Given the description of an element on the screen output the (x, y) to click on. 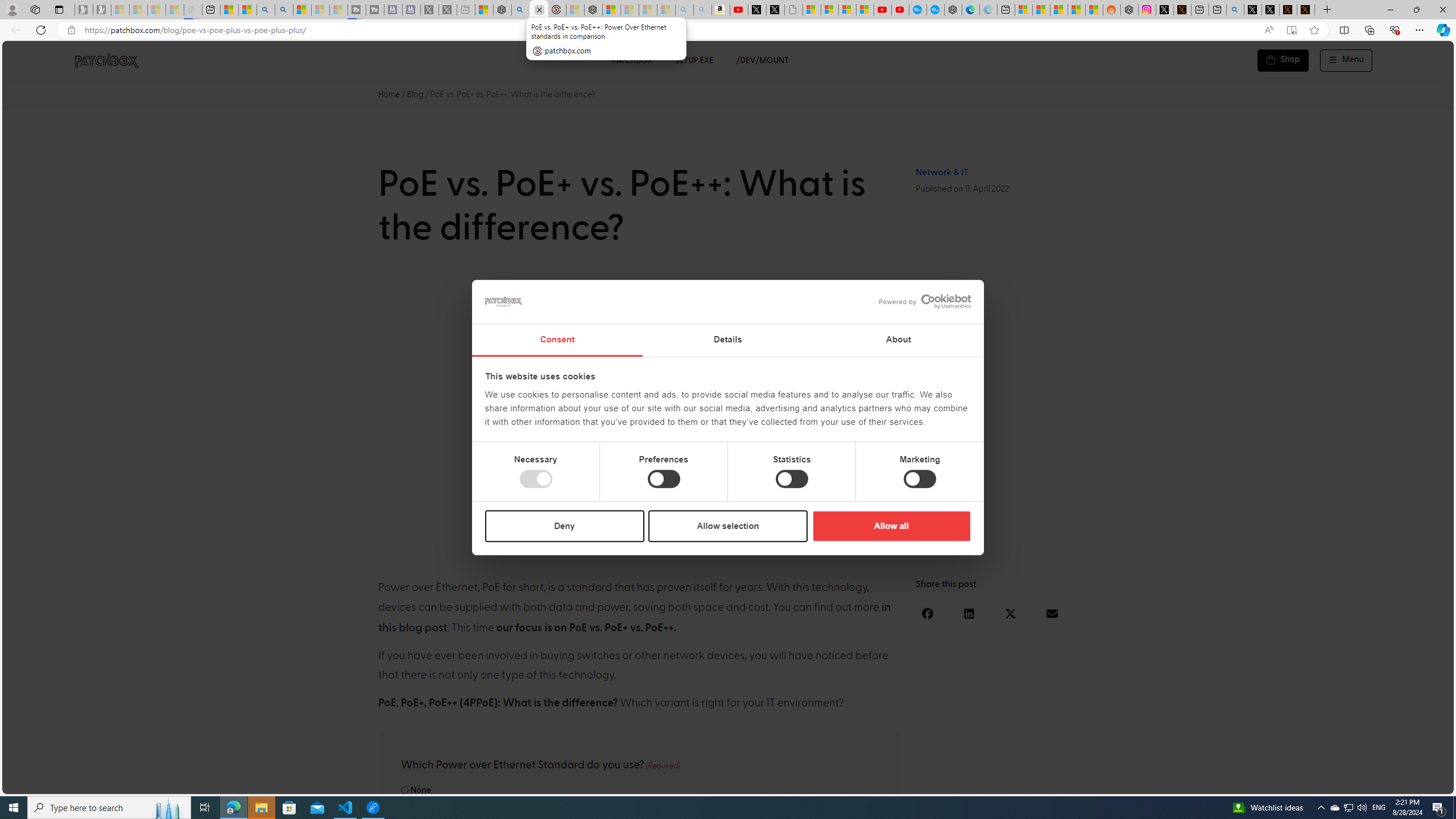
X Privacy Policy (1305, 9)
Share on email (1051, 613)
PoE vs. PoE+ vs. PoE++ (727, 413)
Powered by Cookiebot (925, 301)
Enter Immersive Reader (F9) (1291, 29)
